Given the description of an element on the screen output the (x, y) to click on. 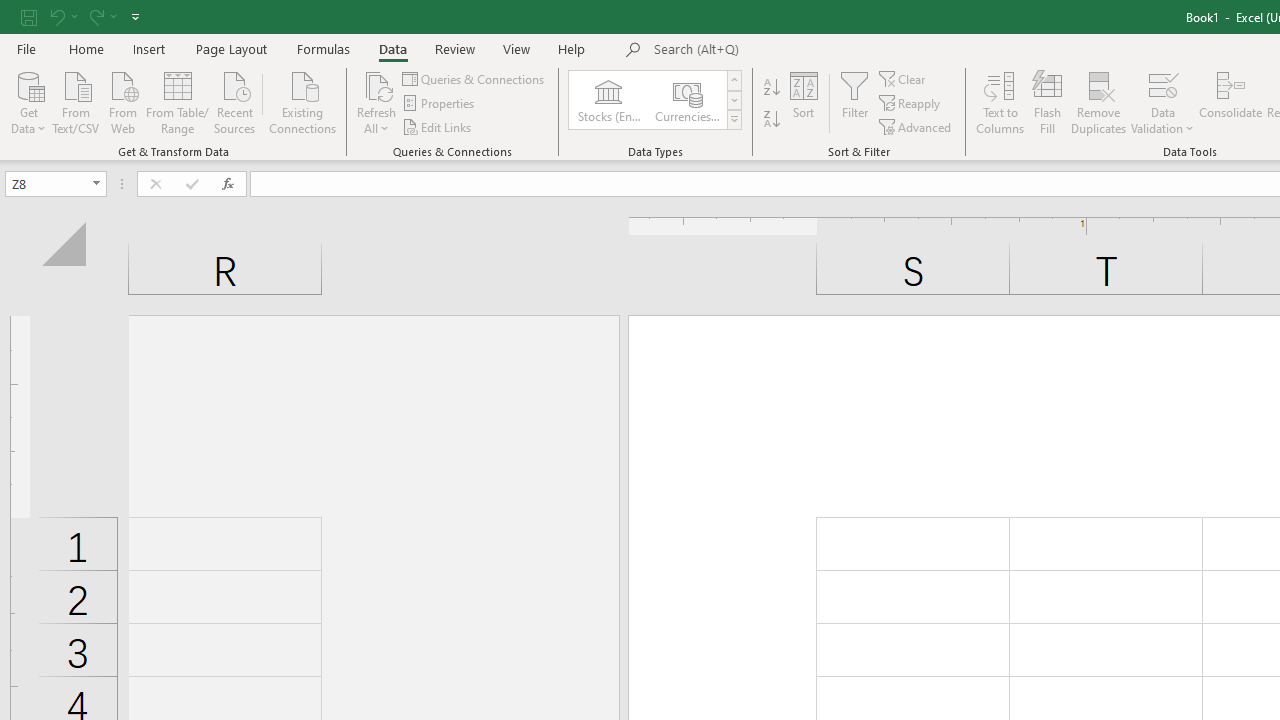
Data Types (734, 120)
Formulas (323, 48)
Row up (734, 79)
Class: NetUIImage (734, 119)
Currencies (English) (686, 100)
Queries & Connections (474, 78)
Get Data (28, 101)
Refresh All (376, 84)
View (517, 48)
Reapply (911, 103)
Microsoft search (792, 49)
Customize Quick Access Toolbar (135, 15)
Recent Sources (235, 101)
Data (392, 48)
